Given the description of an element on the screen output the (x, y) to click on. 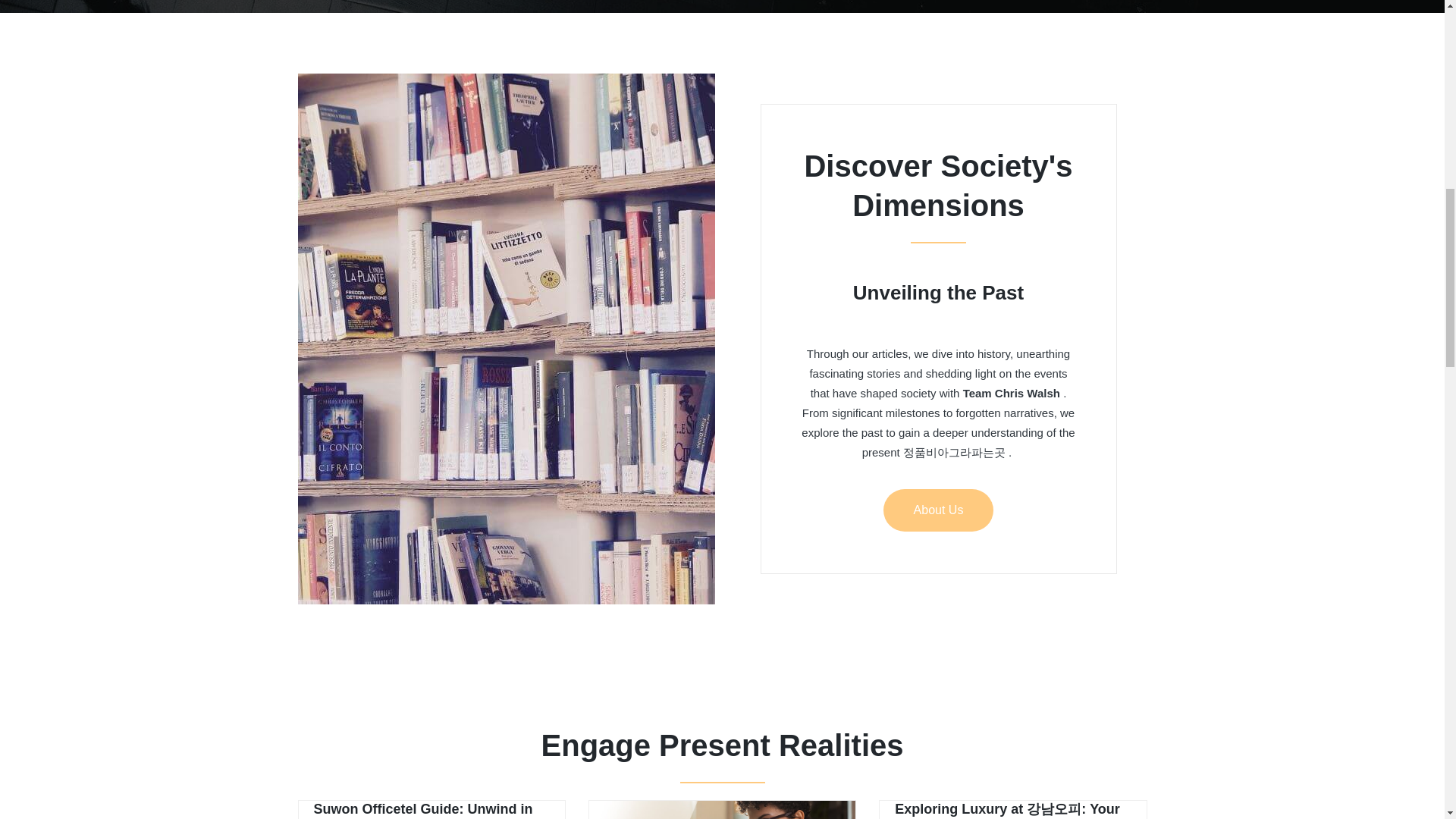
About Us (938, 509)
Team Chris Walsh (1010, 392)
Suwon Officetel Guide: Unwind in Comfort (423, 810)
